Given the description of an element on the screen output the (x, y) to click on. 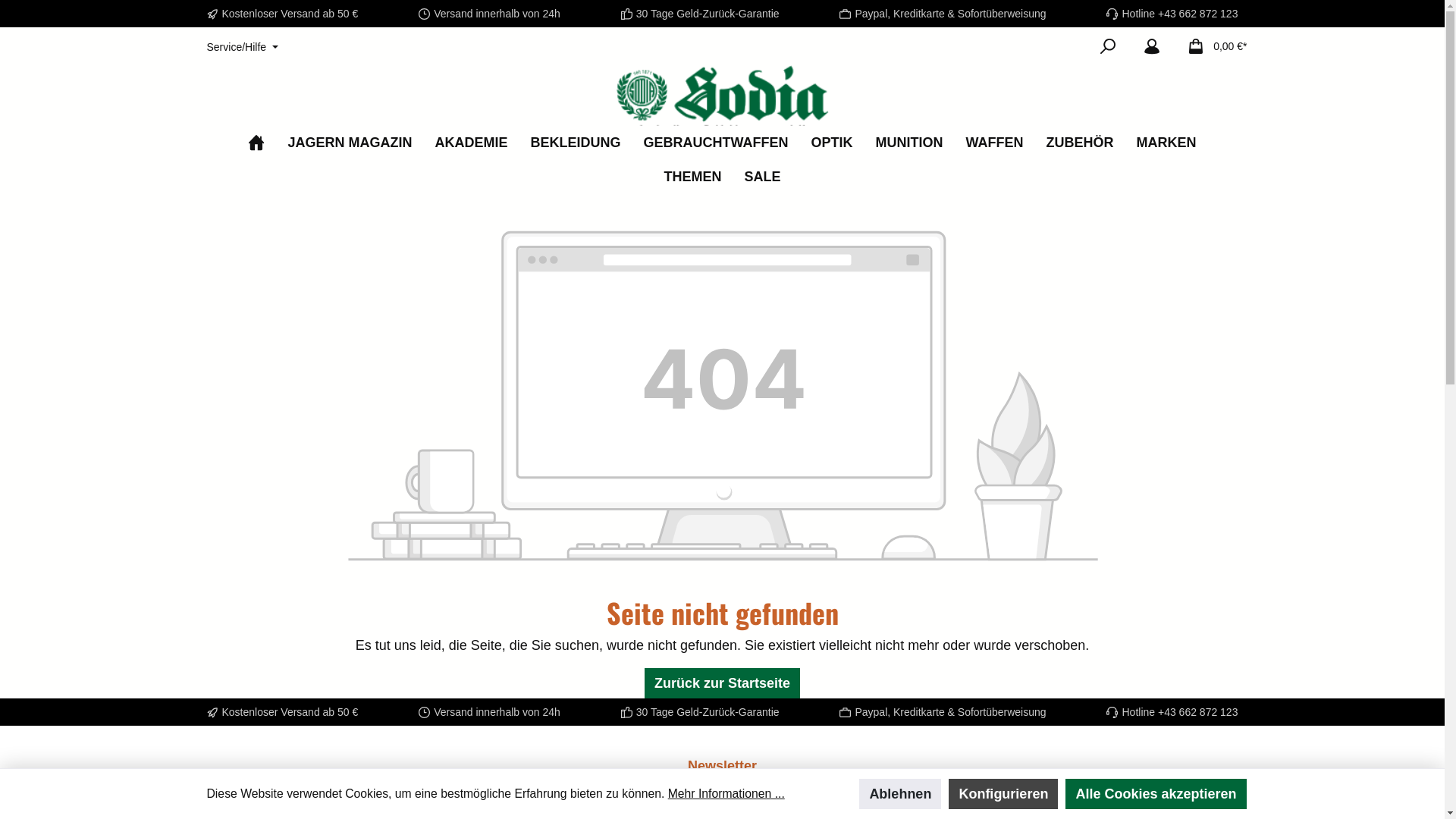
Konfigurieren Element type: text (1002, 793)
Zur Startseite wechseln Element type: hover (721, 95)
Alle Cookies akzeptieren Element type: text (1155, 793)
Service/Hilfe Element type: text (241, 46)
Ablehnen Element type: text (900, 793)
Mein Konto Element type: hover (1151, 46)
Mehr Informationen ... Element type: text (726, 793)
MUNITION Element type: text (909, 142)
BEKLEIDUNG Element type: text (574, 142)
OPTIK Element type: text (832, 142)
MARKEN Element type: text (1166, 142)
Home Element type: hover (256, 142)
GEBRAUCHTWAFFEN Element type: text (716, 142)
AKADEMIE Element type: text (470, 142)
SALE Element type: text (761, 177)
WAFFEN Element type: text (994, 142)
JAGERN MAGAZIN Element type: text (349, 142)
